Given the description of an element on the screen output the (x, y) to click on. 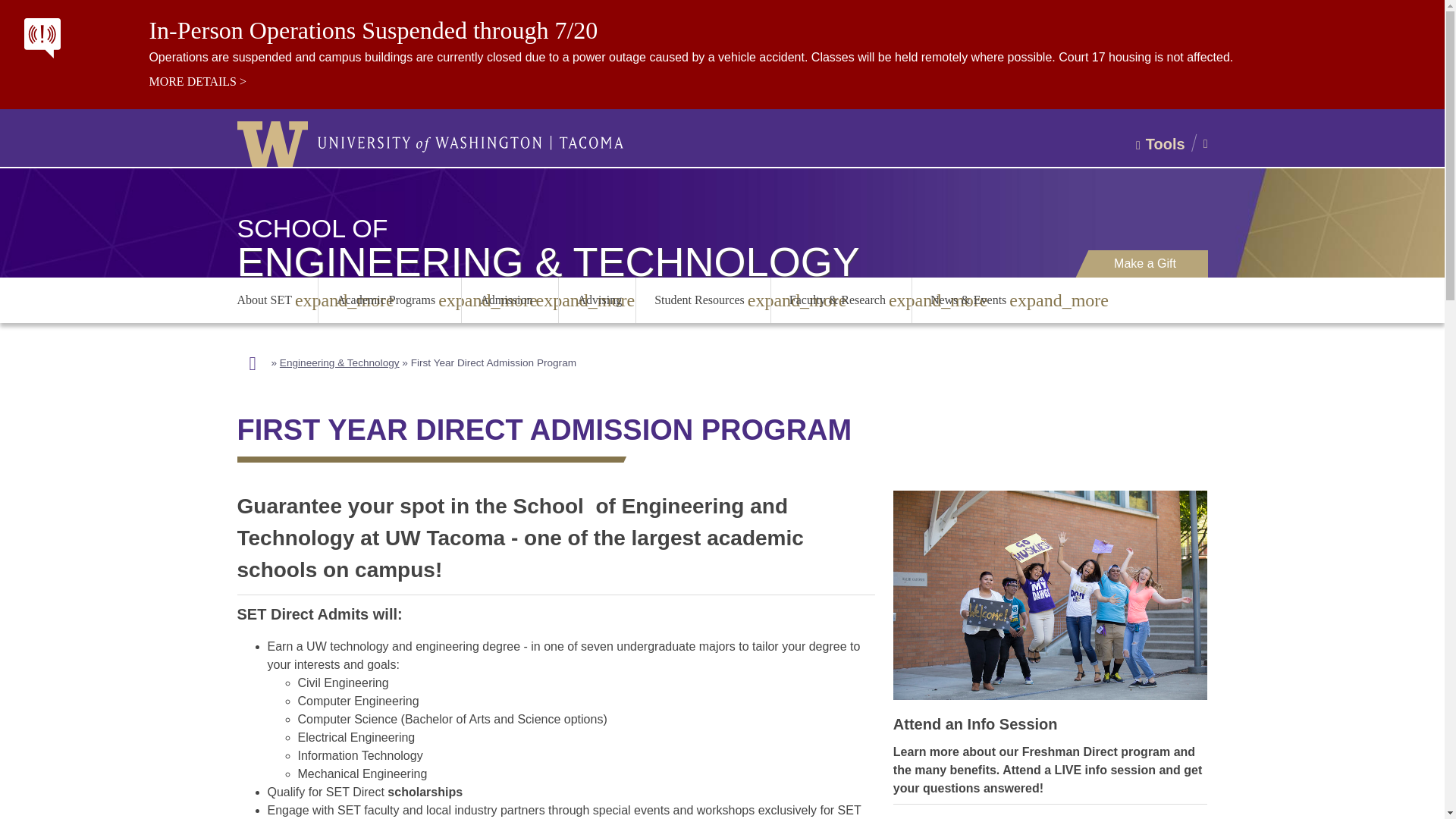
About SET (264, 299)
Search (150, 195)
Tools (1162, 144)
Make a Gift (1144, 263)
